Given the description of an element on the screen output the (x, y) to click on. 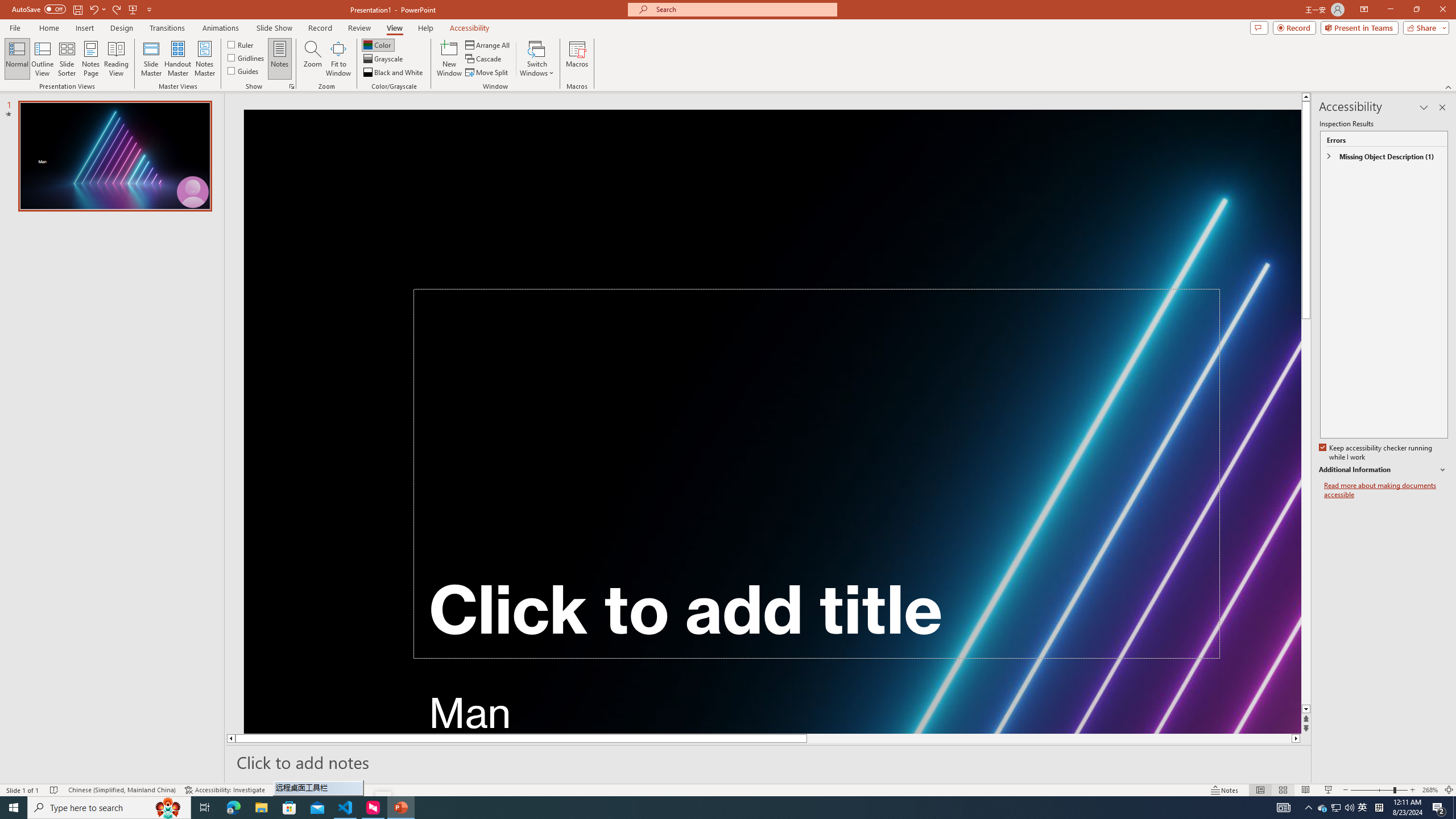
Guides (243, 69)
Decorative Locked (772, 421)
Handout Master (177, 58)
Move Split (487, 72)
